Given the description of an element on the screen output the (x, y) to click on. 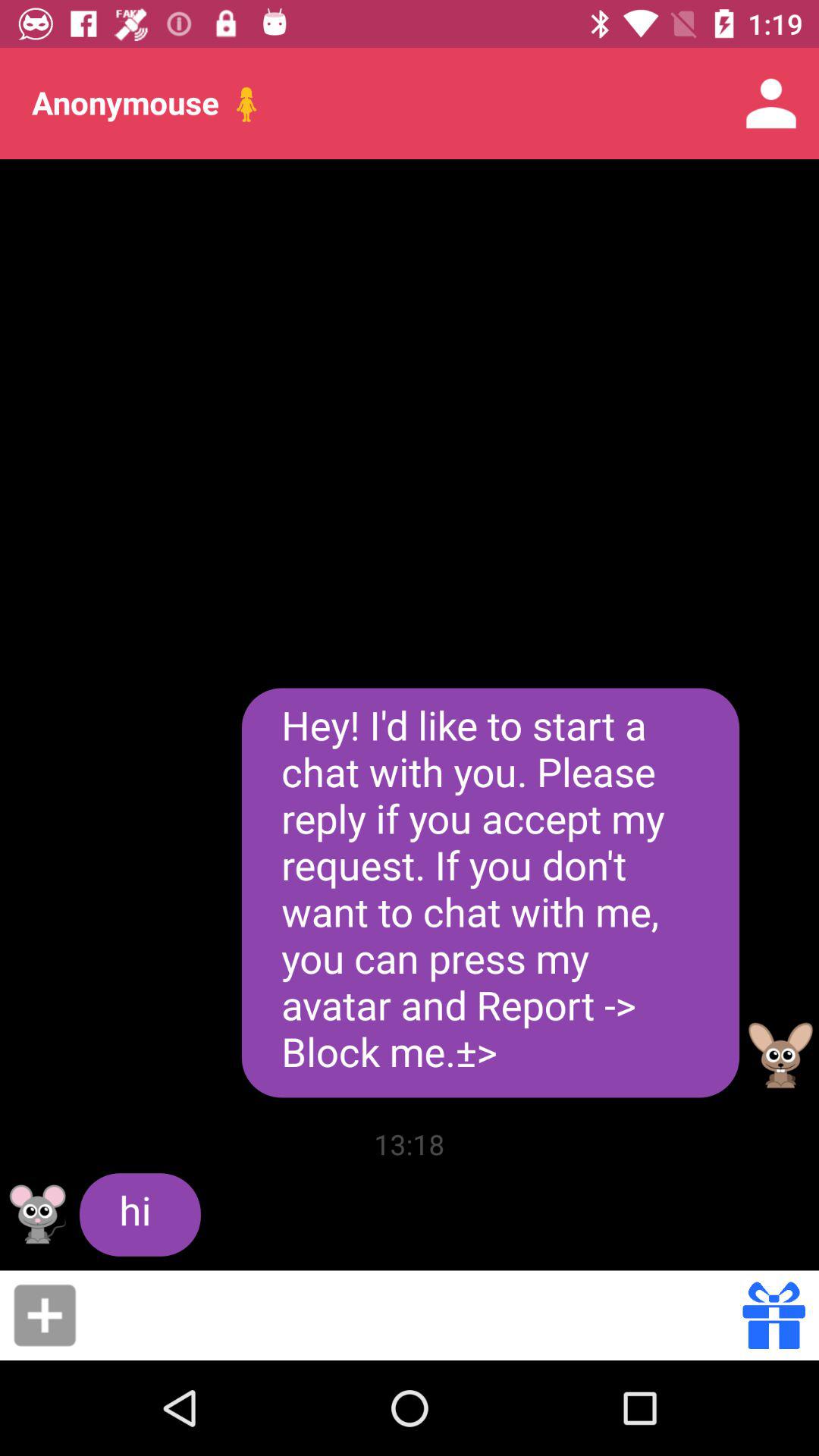
press the 13:18 icon (409, 1144)
